Given the description of an element on the screen output the (x, y) to click on. 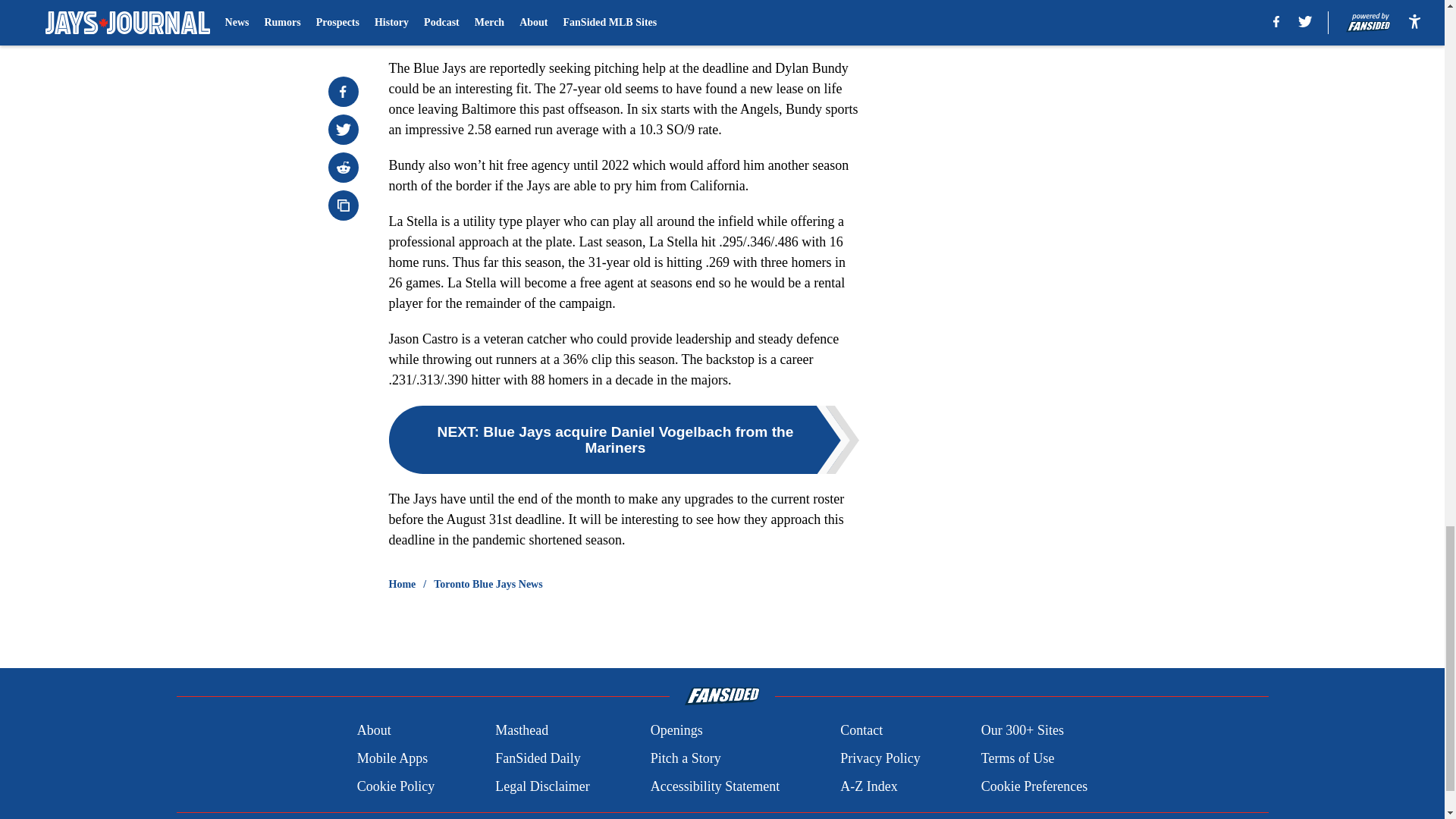
NEXT: Blue Jays acquire Daniel Vogelbach from the Mariners (623, 439)
Blue Jays may have the tools to use a Bullpen Day (541, 11)
Toronto Blue Jays News (488, 584)
About (373, 730)
Home (401, 584)
